Given the description of an element on the screen output the (x, y) to click on. 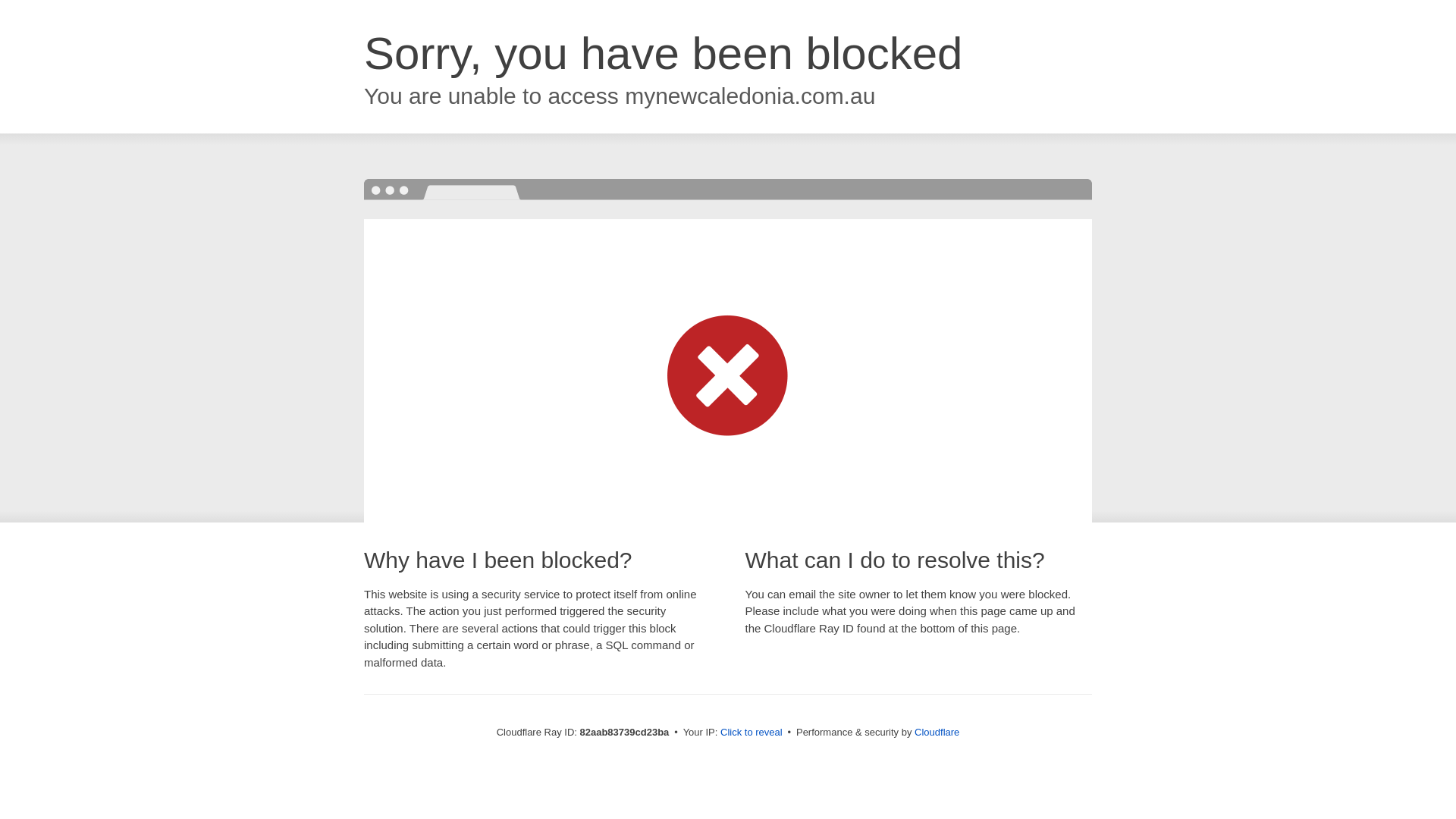
Click to reveal Element type: text (751, 732)
Cloudflare Element type: text (936, 731)
